Given the description of an element on the screen output the (x, y) to click on. 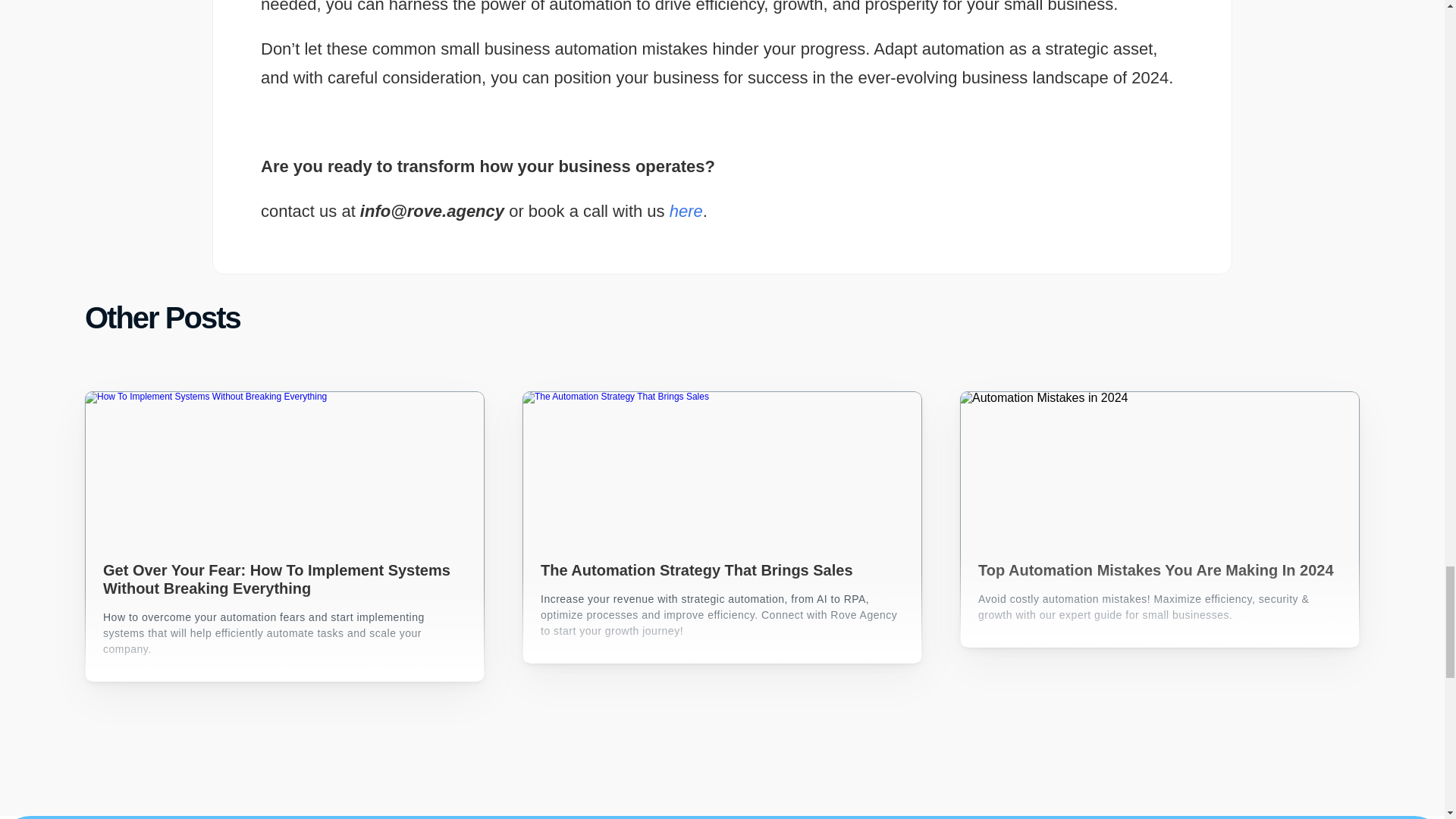
here (686, 210)
